Given the description of an element on the screen output the (x, y) to click on. 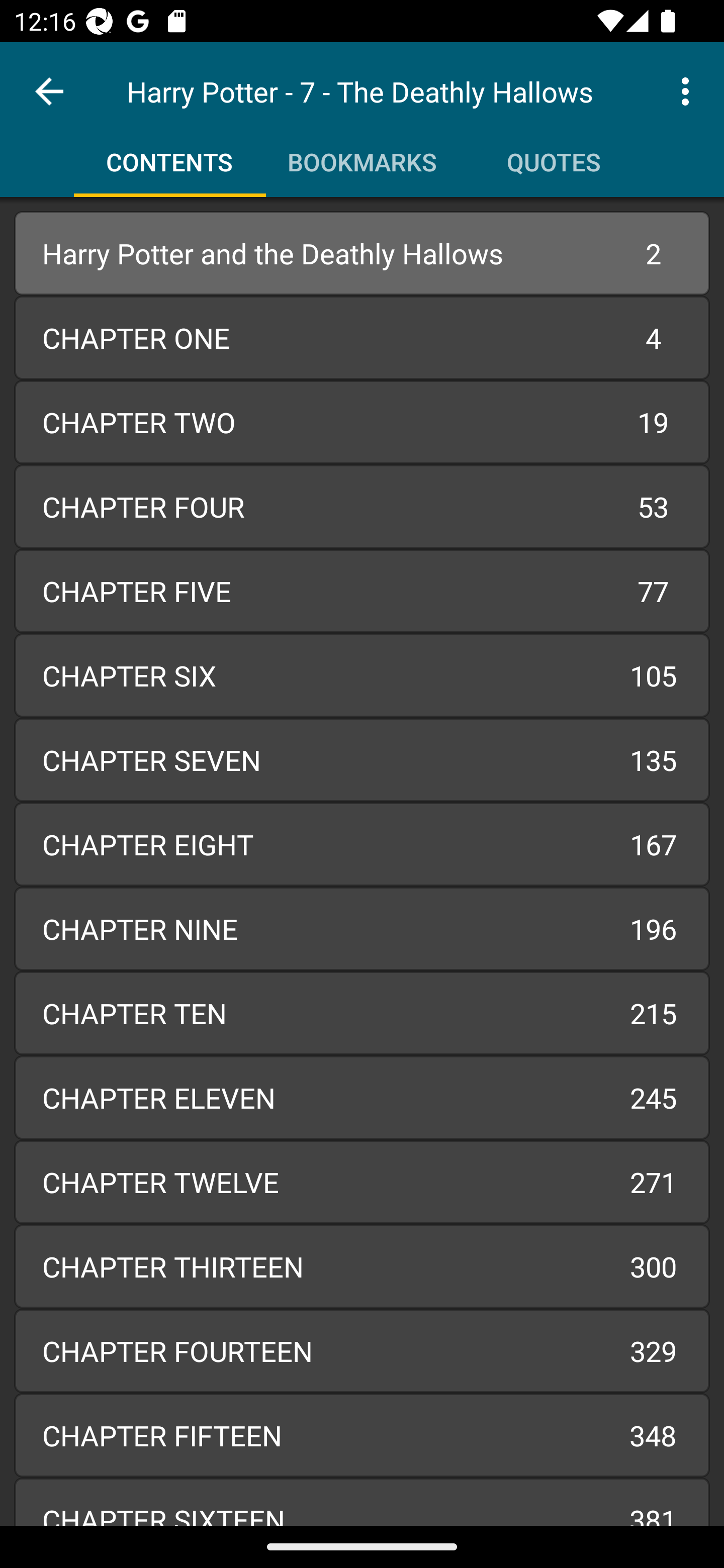
Back (49, 91)
More options (688, 90)
Bookmarks BOOKMARKS (361, 154)
Quotes QUOTES (554, 154)
Harry Potter and the Deathly Hallows 2 (361, 252)
CHAPTER ONE 4 (361, 336)
CHAPTER TWO 19 (361, 421)
CHAPTER FOUR 53 (361, 506)
CHAPTER FIVE 77 (361, 590)
CHAPTER SIX 105 (361, 675)
CHAPTER SEVEN 135 (361, 760)
CHAPTER EIGHT 167 (361, 843)
CHAPTER NINE 196 (361, 927)
CHAPTER TEN 215 (361, 1012)
CHAPTER ELEVEN 245 (361, 1097)
CHAPTER TWELVE 271 (361, 1181)
CHAPTER THIRTEEN 300 (361, 1266)
CHAPTER FOURTEEN 329 (361, 1350)
CHAPTER FIFTEEN 348 (361, 1434)
